Given the description of an element on the screen output the (x, y) to click on. 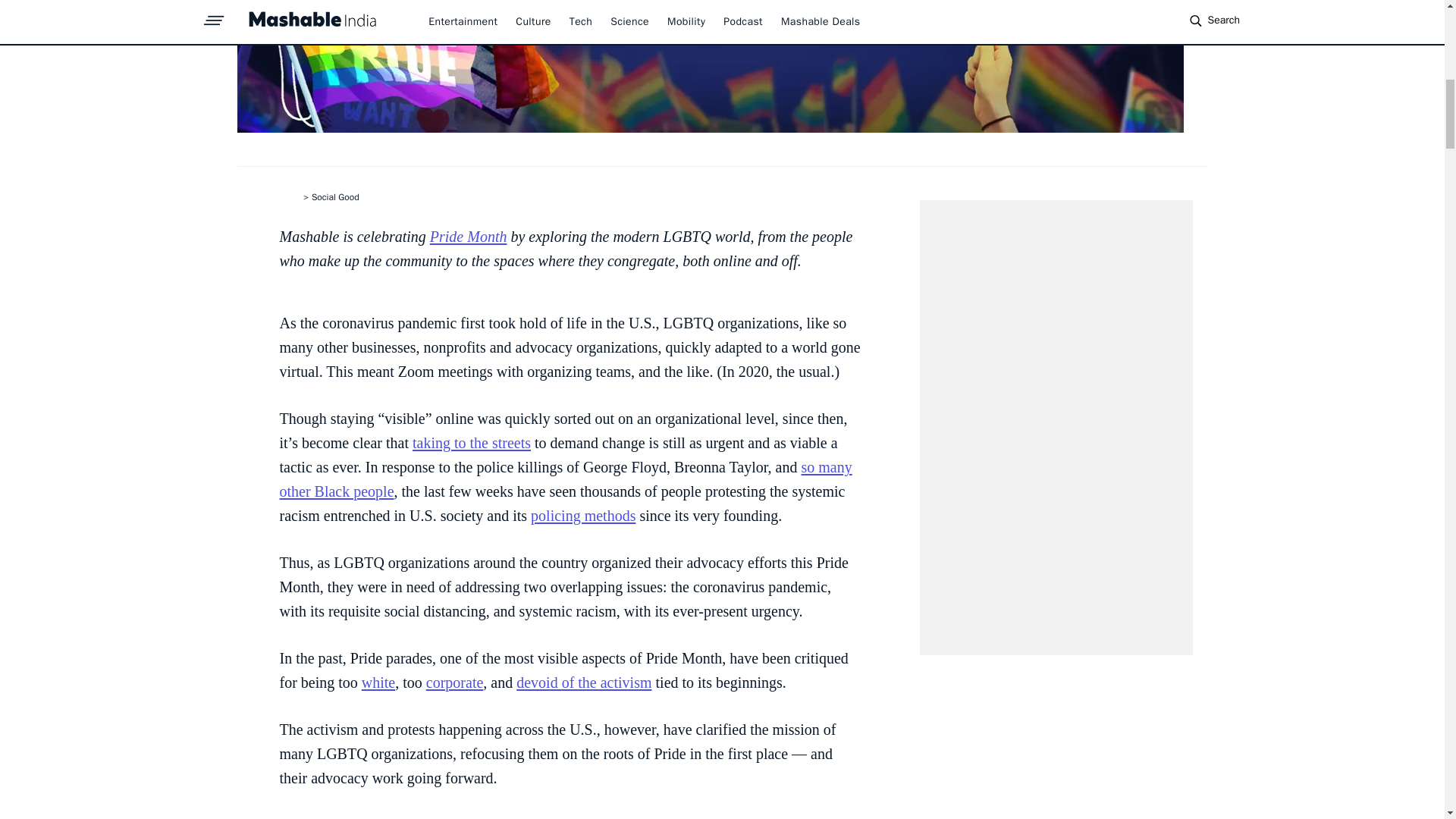
policing methods (582, 515)
corporate (454, 682)
so many other Black people (565, 478)
Pride Month (467, 236)
white (377, 682)
taking to the streets (471, 442)
devoid of the activism (583, 682)
